Given the description of an element on the screen output the (x, y) to click on. 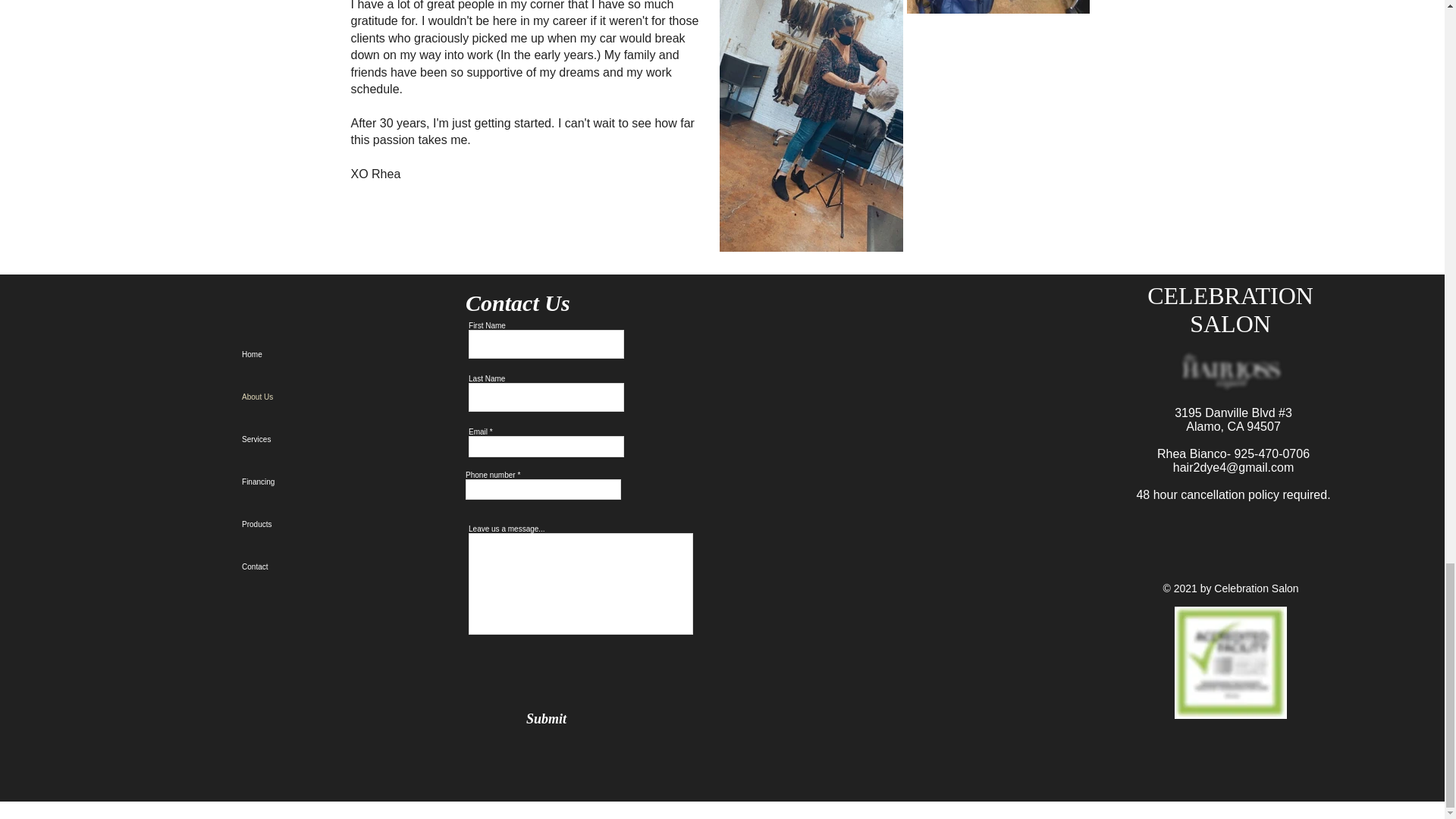
Submit (546, 719)
Contact (311, 567)
Products (311, 524)
About Us (311, 396)
Services (311, 439)
Financing (311, 482)
CELEBRATION SALON (1230, 309)
Home (311, 354)
